Given the description of an element on the screen output the (x, y) to click on. 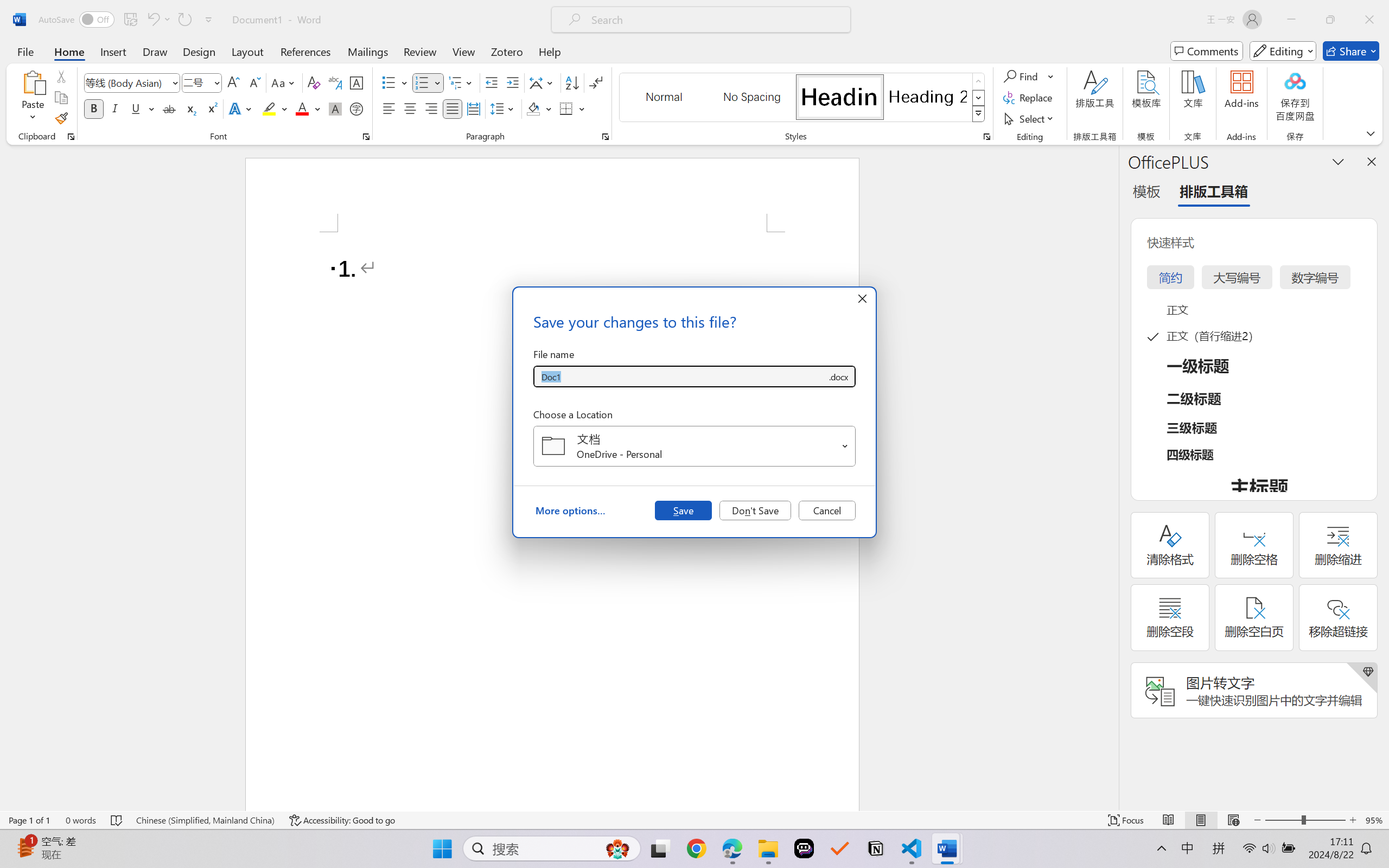
AutomationID: QuickStylesGallery (802, 97)
Zoom 95% (1374, 819)
